Given the description of an element on the screen output the (x, y) to click on. 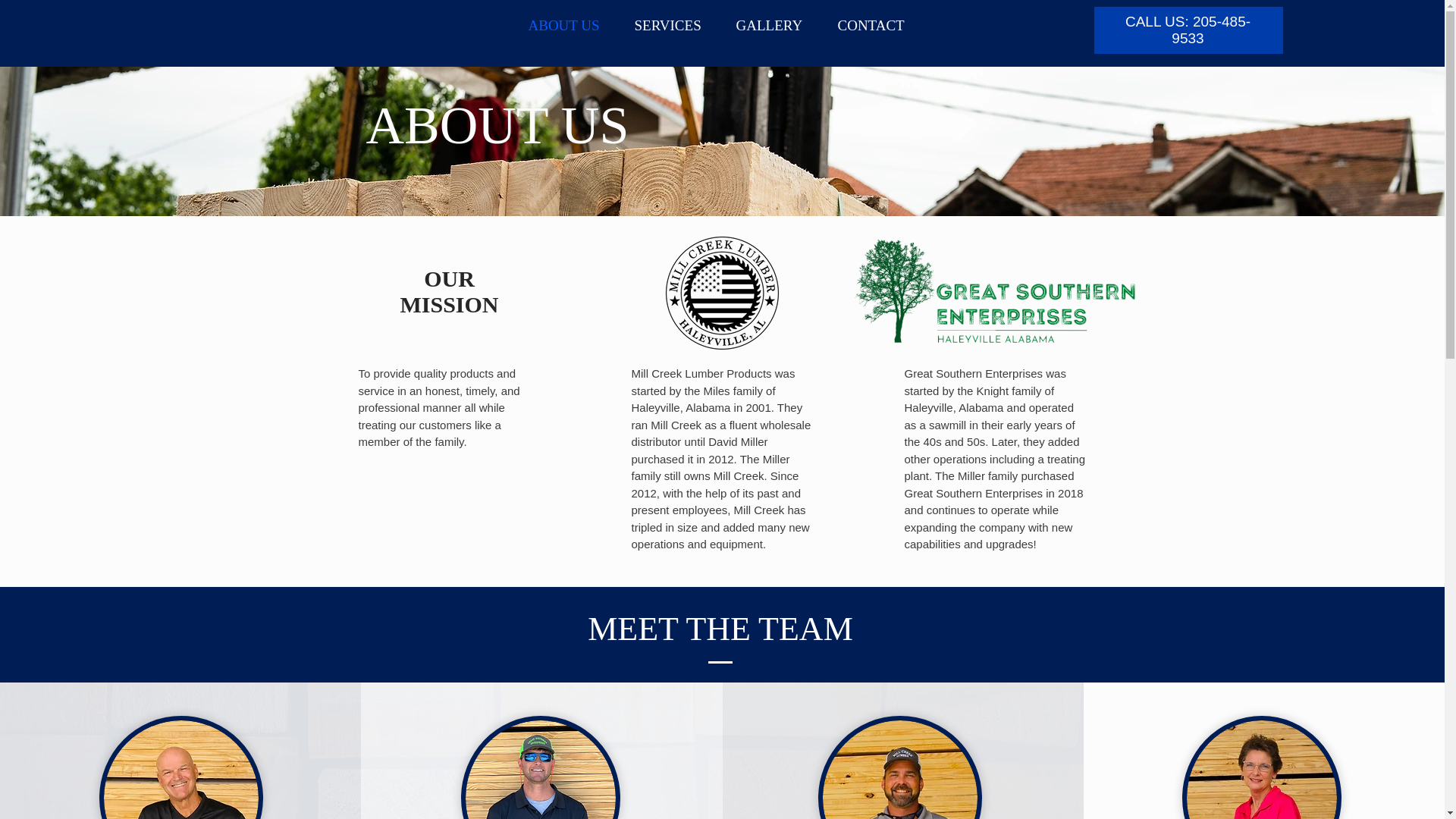
ABOUT US (569, 25)
guy2.jpg (181, 767)
guy4.jpg (899, 767)
SERVICES (674, 25)
CONTACT (877, 25)
guy3.jpg (1261, 767)
GALLERY (776, 25)
guy3.jpg (540, 767)
